Given the description of an element on the screen output the (x, y) to click on. 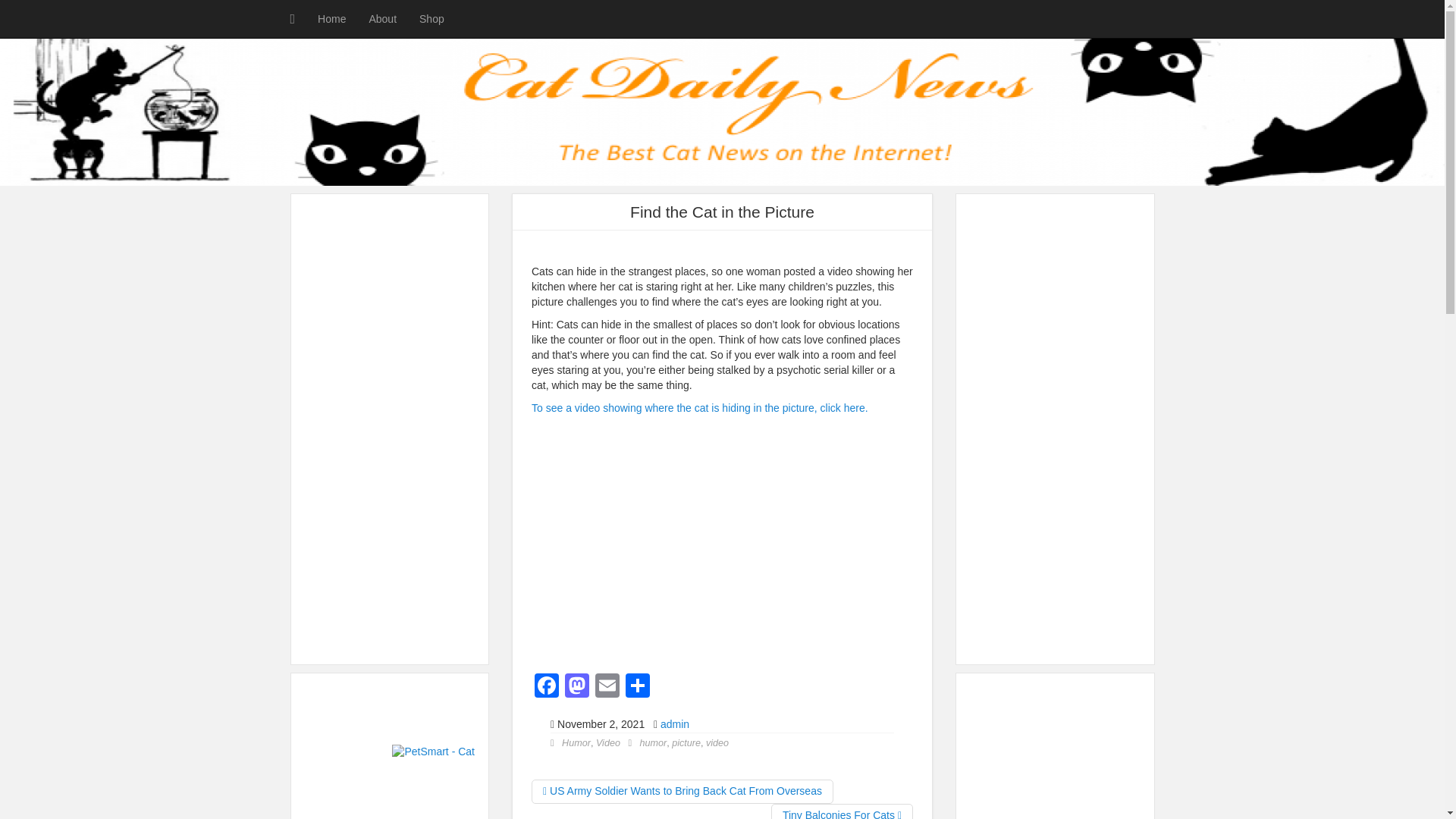
Facebook (546, 687)
picture (685, 742)
humor (653, 742)
US Army Soldier Wants to Bring Back Cat From Overseas (681, 791)
Mastodon (577, 687)
Humor (576, 742)
video (717, 742)
Tiny Balconies For Cats (841, 811)
Email (607, 687)
admin (674, 724)
